Given the description of an element on the screen output the (x, y) to click on. 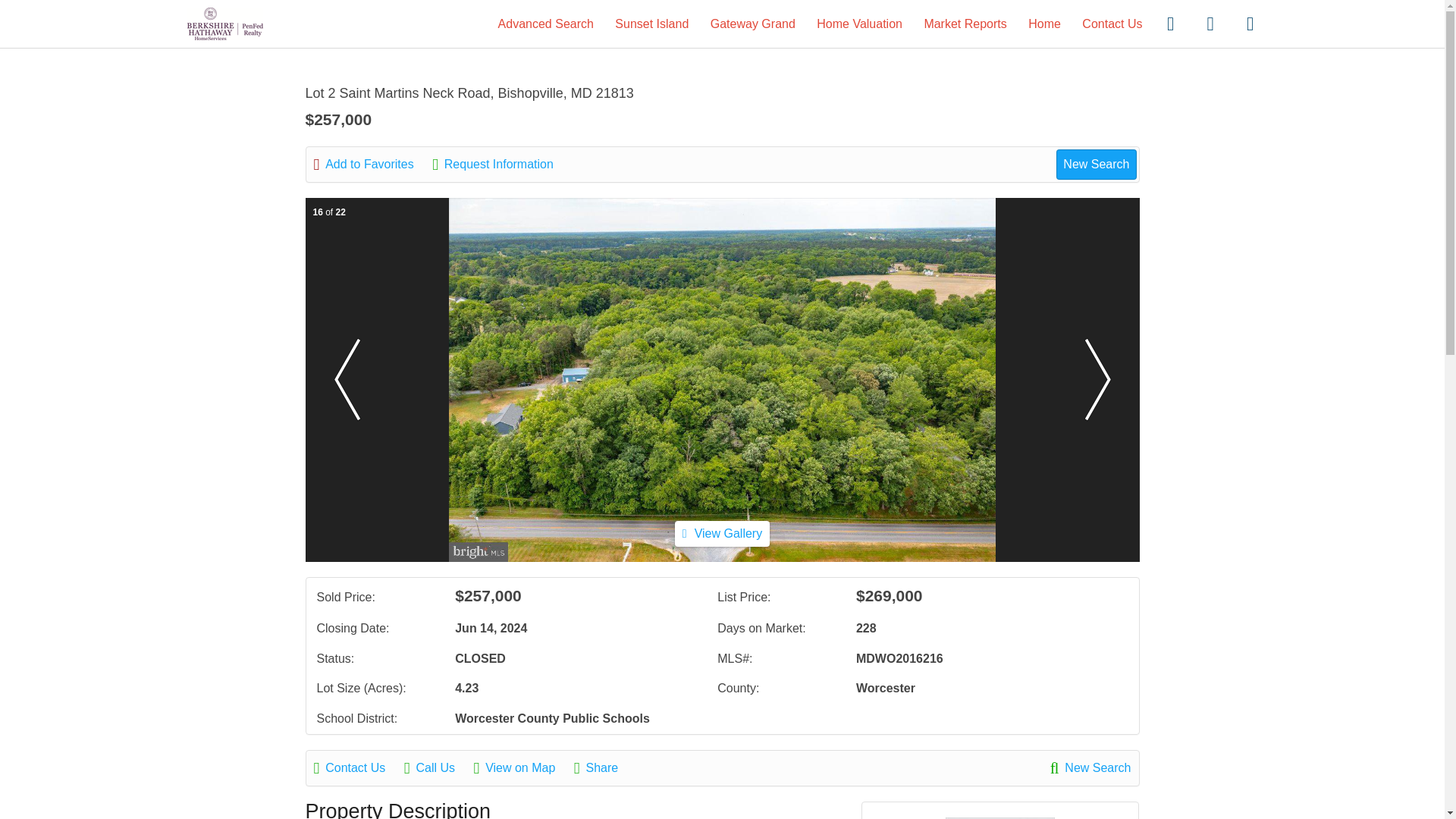
Call Us (437, 767)
Home Valuation (859, 23)
Request Information (500, 164)
Advanced Search (545, 23)
New Search (1096, 164)
Add to Favorites (371, 164)
Contact Us (1111, 23)
New Search (1090, 767)
View Gallery (722, 533)
Market Reports (964, 23)
Home (1044, 23)
Gateway Grand (752, 23)
Sunset Island (651, 23)
View Gallery (722, 533)
Share (603, 767)
